Given the description of an element on the screen output the (x, y) to click on. 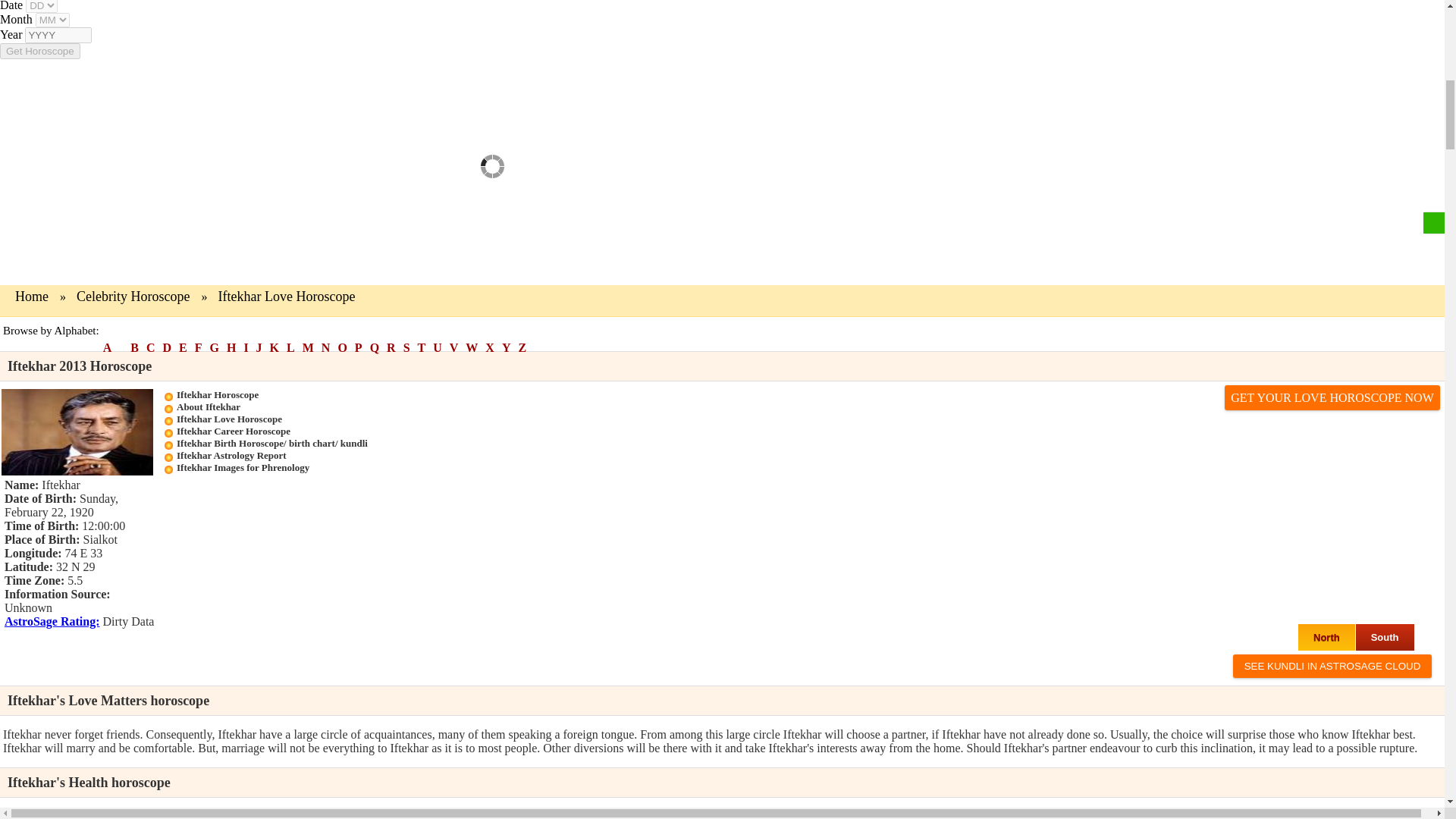
See kundli in AstroSage Cloud (1332, 666)
